Given the description of an element on the screen output the (x, y) to click on. 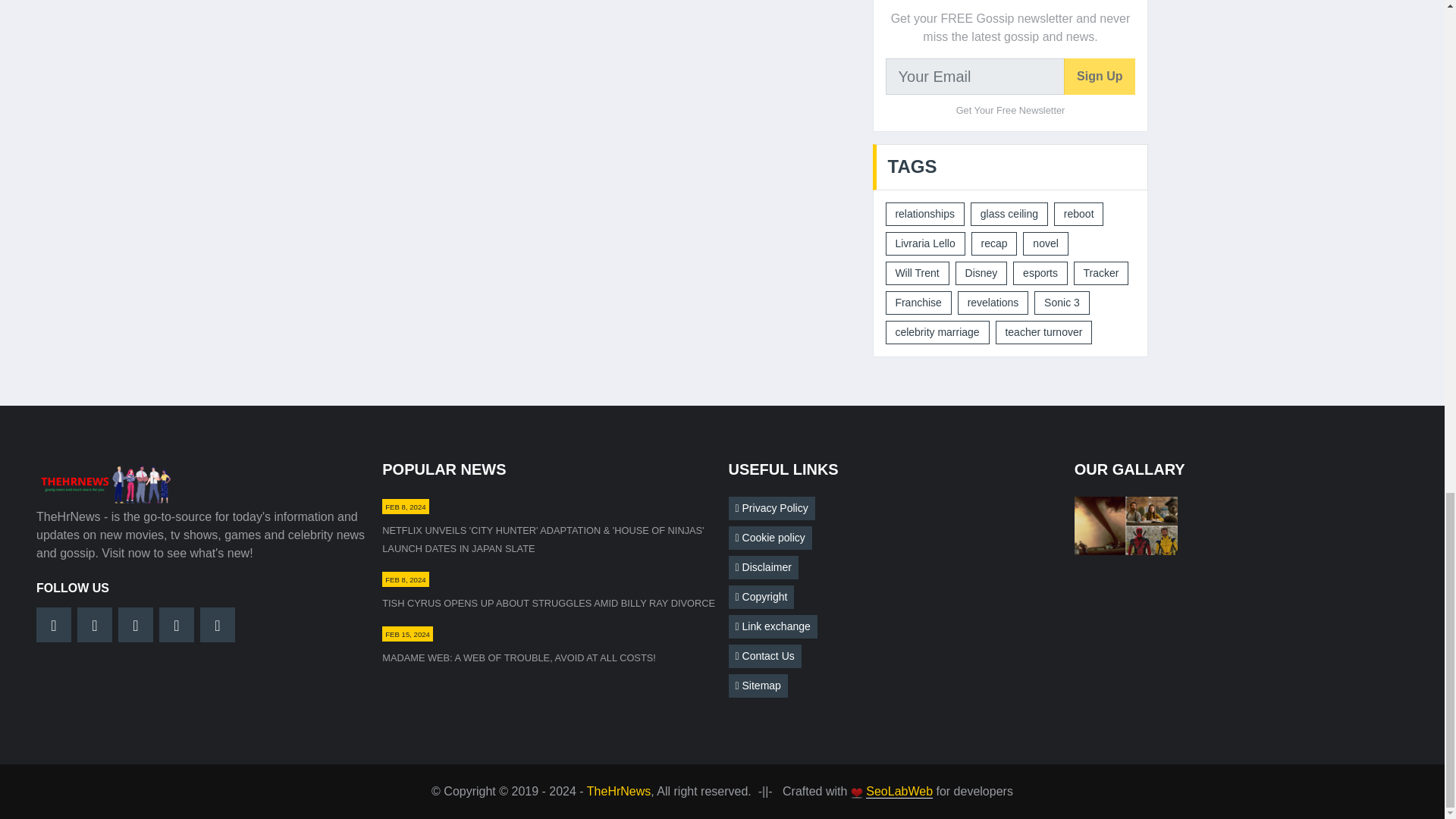
Madame Web: A Web of Trouble, Avoid at All Costs! (518, 657)
 glass ceiling  (1009, 214)
 Livraria Lello  (925, 243)
 esports  (1040, 273)
 novel  (1045, 243)
Sign Up (1099, 76)
 Tracker  (1101, 273)
 Disney  (981, 273)
 Franchise  (918, 302)
Tish Cyrus Opens Up About Struggles Amid Billy Ray Divorce (547, 603)
